Given the description of an element on the screen output the (x, y) to click on. 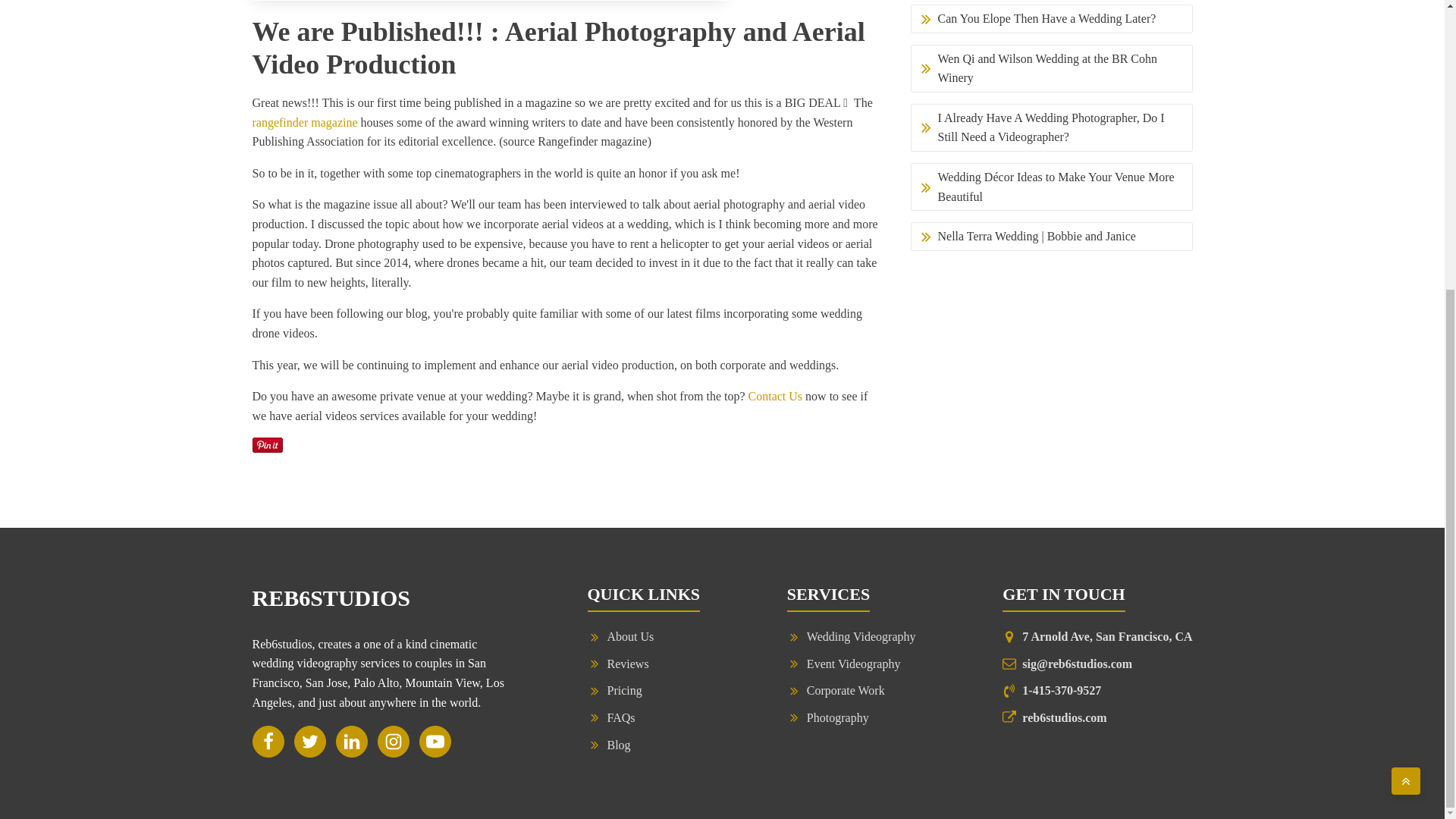
Contact Us (775, 395)
Can You Elope Then Have a Wedding Later? (1051, 18)
Wen Qi and Wilson Wedding at the BR Cohn Winery (1051, 68)
rangefinder magazine (303, 122)
